Given the description of an element on the screen output the (x, y) to click on. 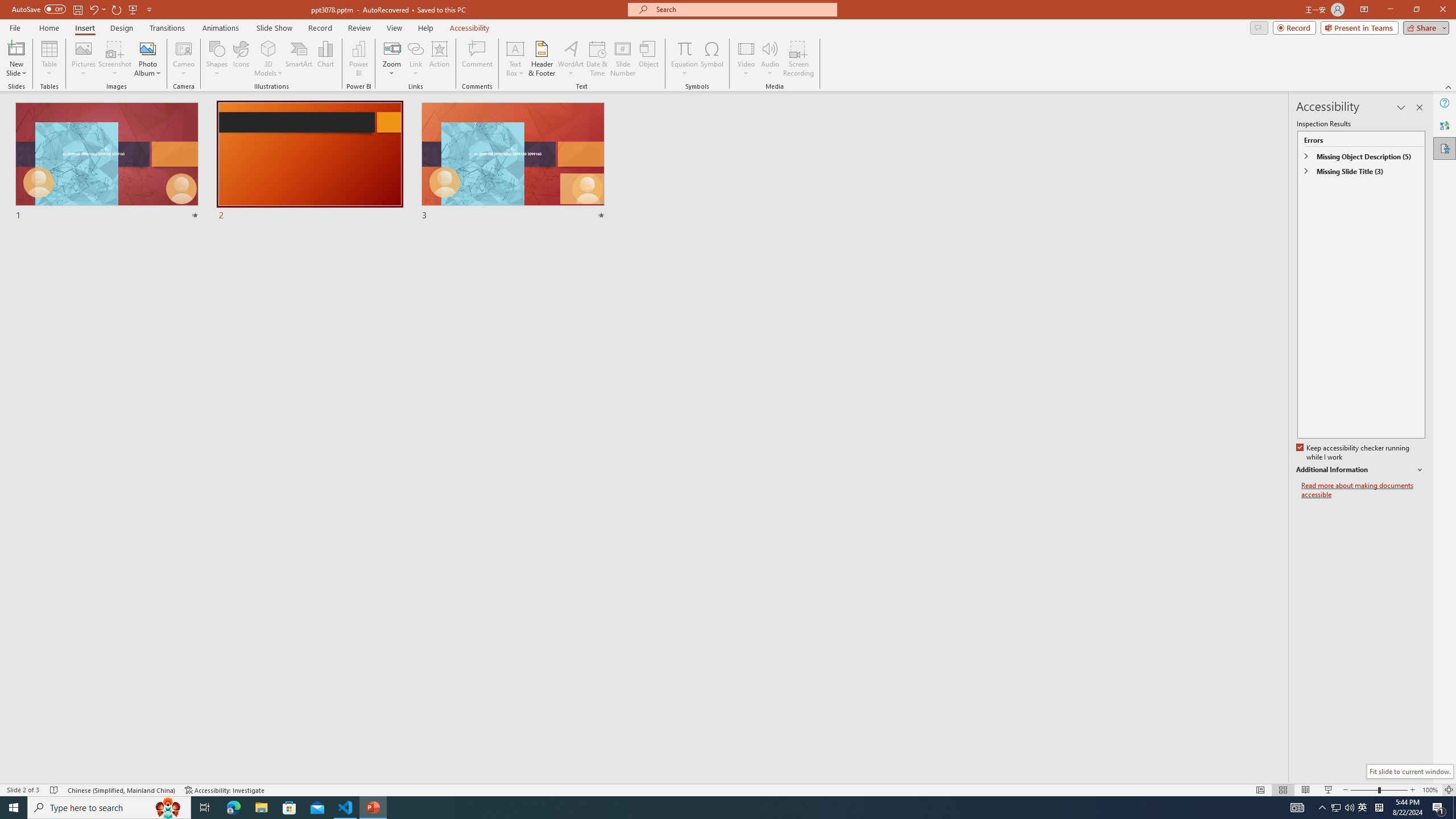
Slide Sorter (1282, 790)
Home (48, 28)
Design (122, 28)
Keep accessibility checker running while I work (1353, 452)
Zoom (1379, 790)
Symbol... (711, 58)
Redo (117, 9)
Collapse the Ribbon (1448, 86)
AutoSave (38, 9)
Additional Information (1360, 469)
Restore Down (1416, 9)
Zoom In (1412, 790)
New Photo Album... (147, 48)
